Given the description of an element on the screen output the (x, y) to click on. 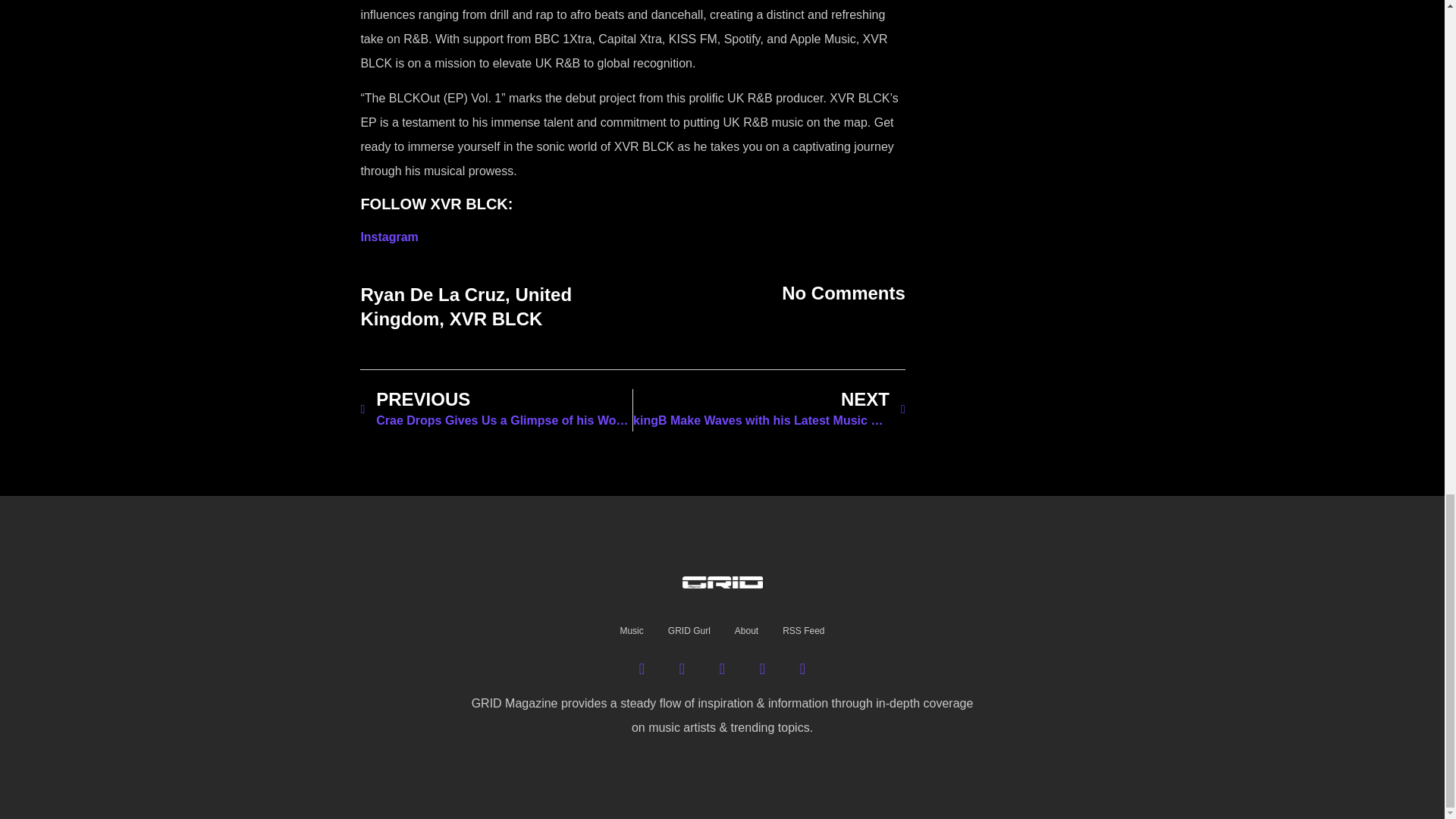
GRID Gurl (689, 630)
No Comments (843, 292)
Ryan De La Cruz (432, 294)
Instagram (388, 236)
About (746, 630)
United Kingdom (465, 306)
Music (631, 630)
RSS Feed (802, 630)
XVR BLCK (496, 318)
